Given the description of an element on the screen output the (x, y) to click on. 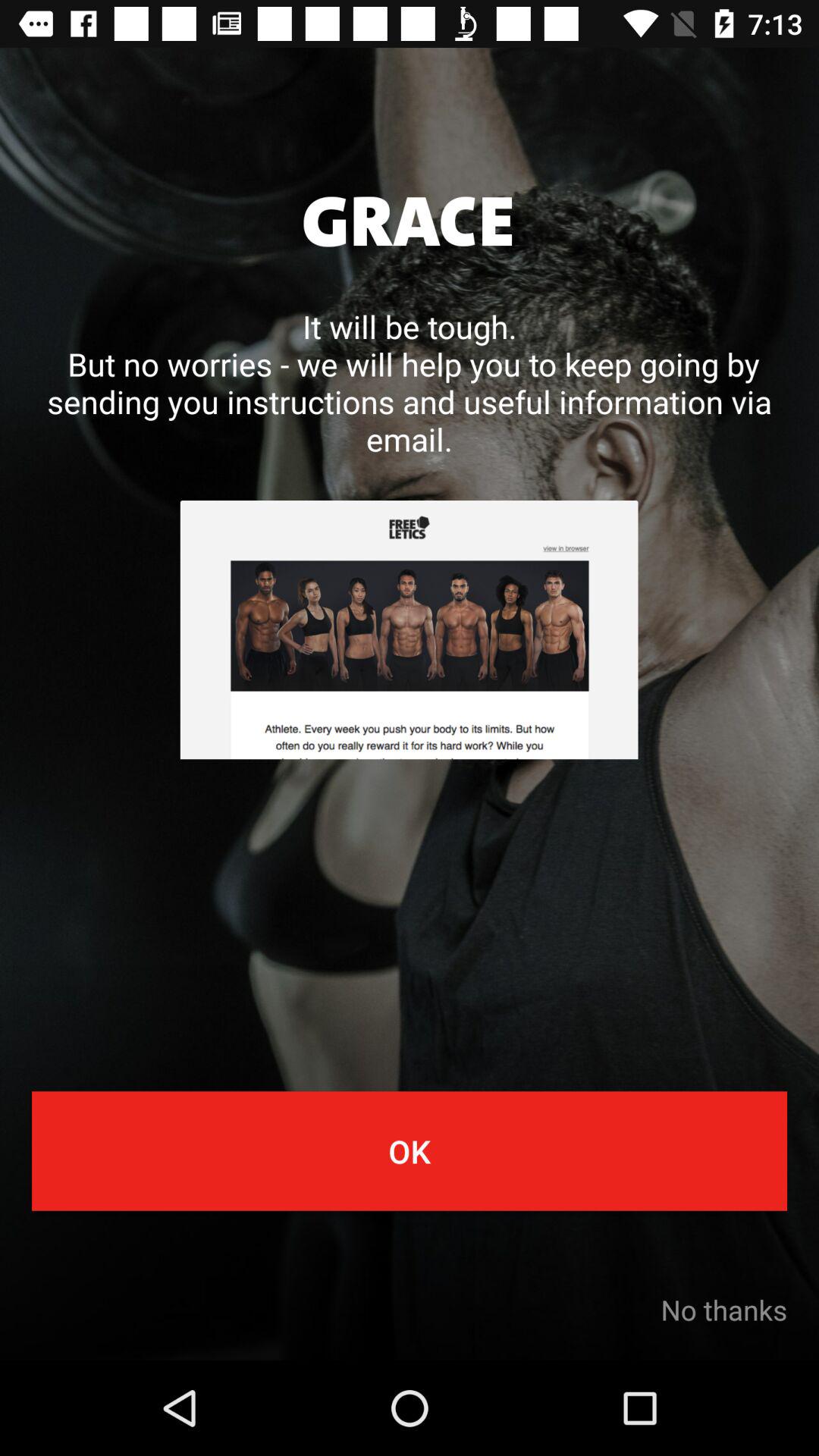
choose the icon above no thanks item (409, 1150)
